Given the description of an element on the screen output the (x, y) to click on. 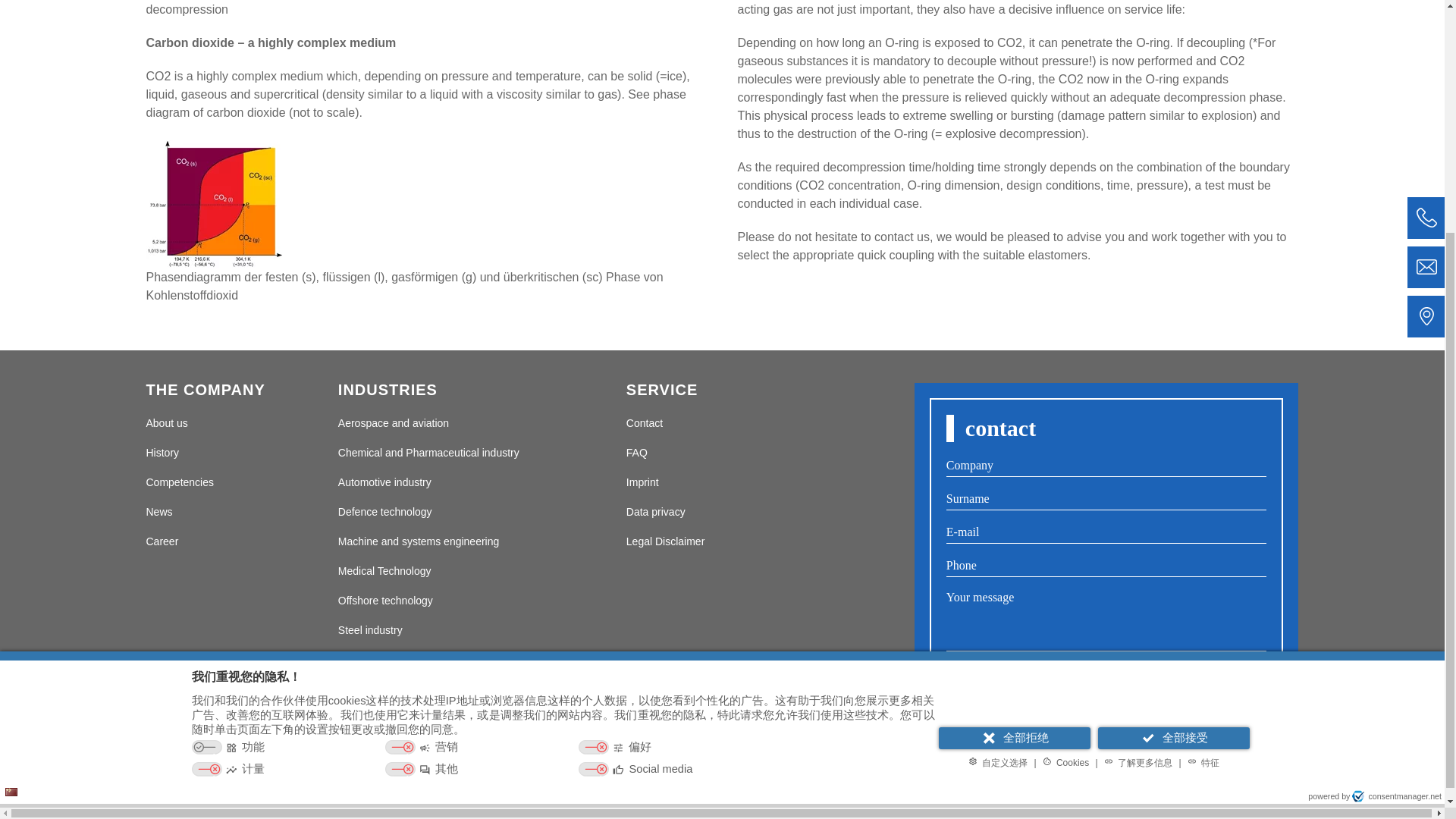
consentmanager.net (1396, 473)
Language: zh (11, 470)
Phasendiagramm von Kohlenstoffdioxid (213, 202)
Language: zh (11, 469)
send (1106, 770)
Cookies (1066, 439)
Yes (953, 688)
